Given the description of an element on the screen output the (x, y) to click on. 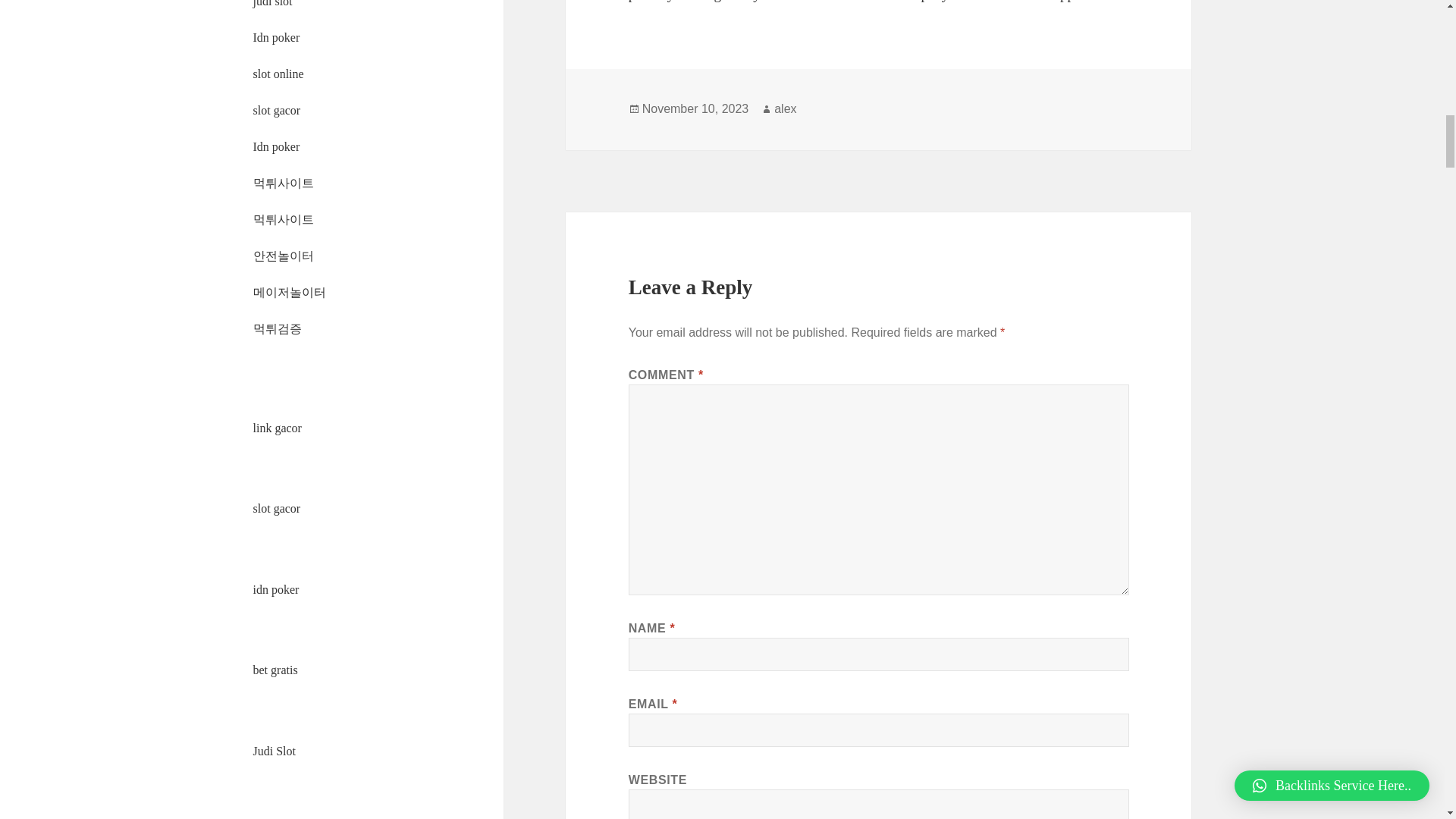
judi slot (272, 3)
